Given the description of an element on the screen output the (x, y) to click on. 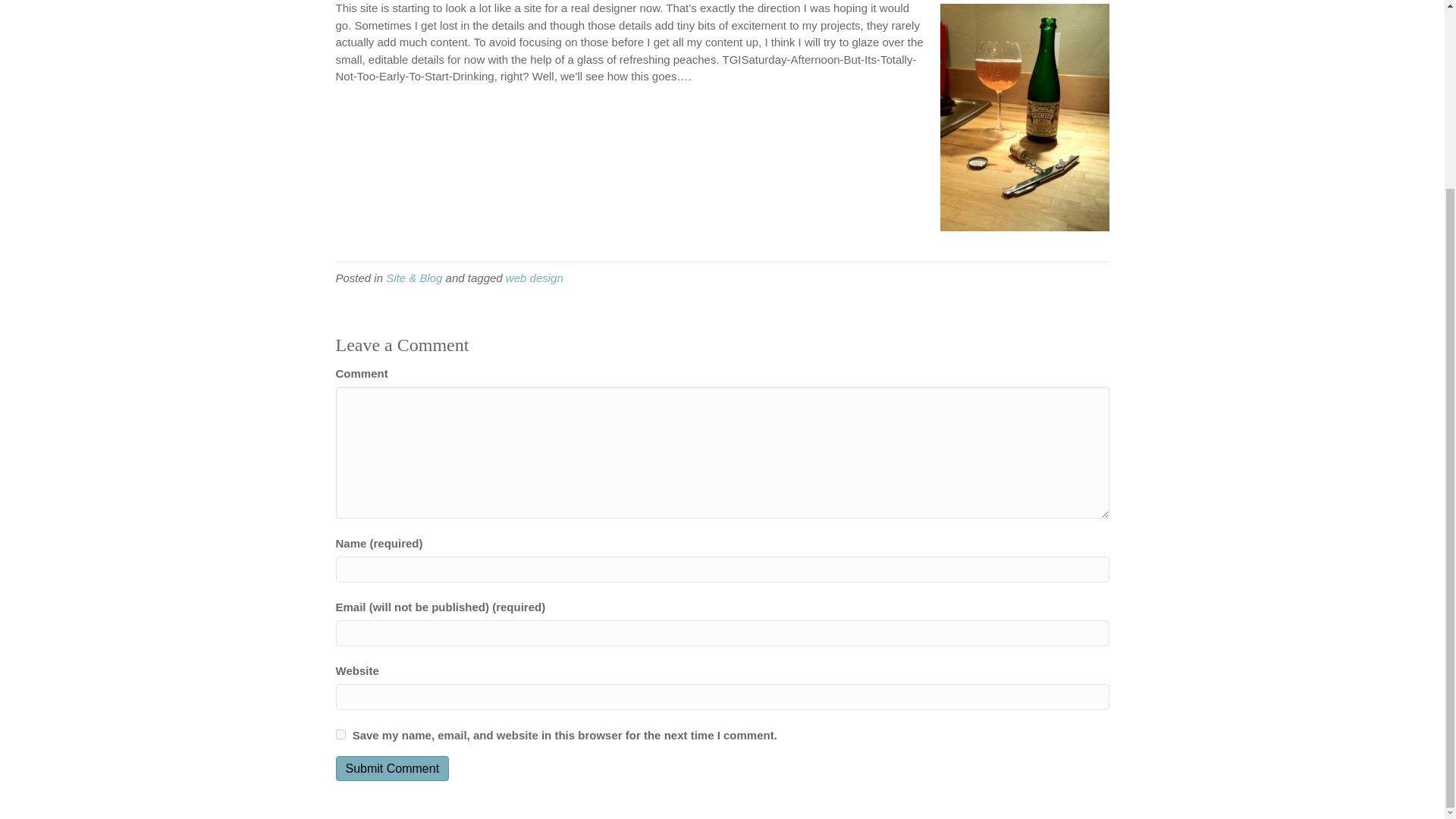
yes (339, 734)
Submit Comment (391, 768)
Submit Comment (391, 768)
web design (534, 277)
